Given the description of an element on the screen output the (x, y) to click on. 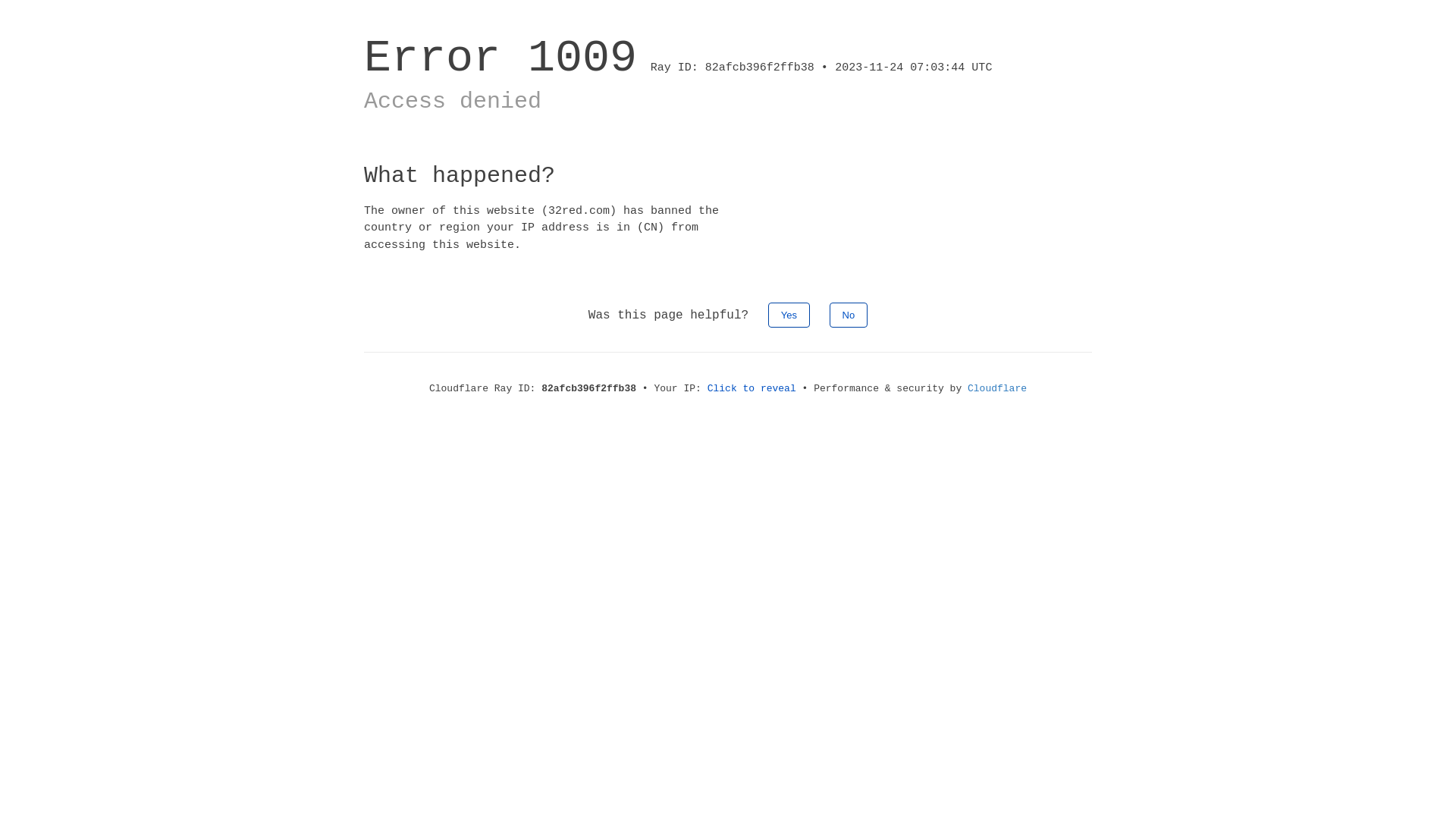
No Element type: text (848, 314)
Yes Element type: text (788, 314)
Cloudflare Element type: text (996, 388)
Click to reveal Element type: text (751, 388)
